Given the description of an element on the screen output the (x, y) to click on. 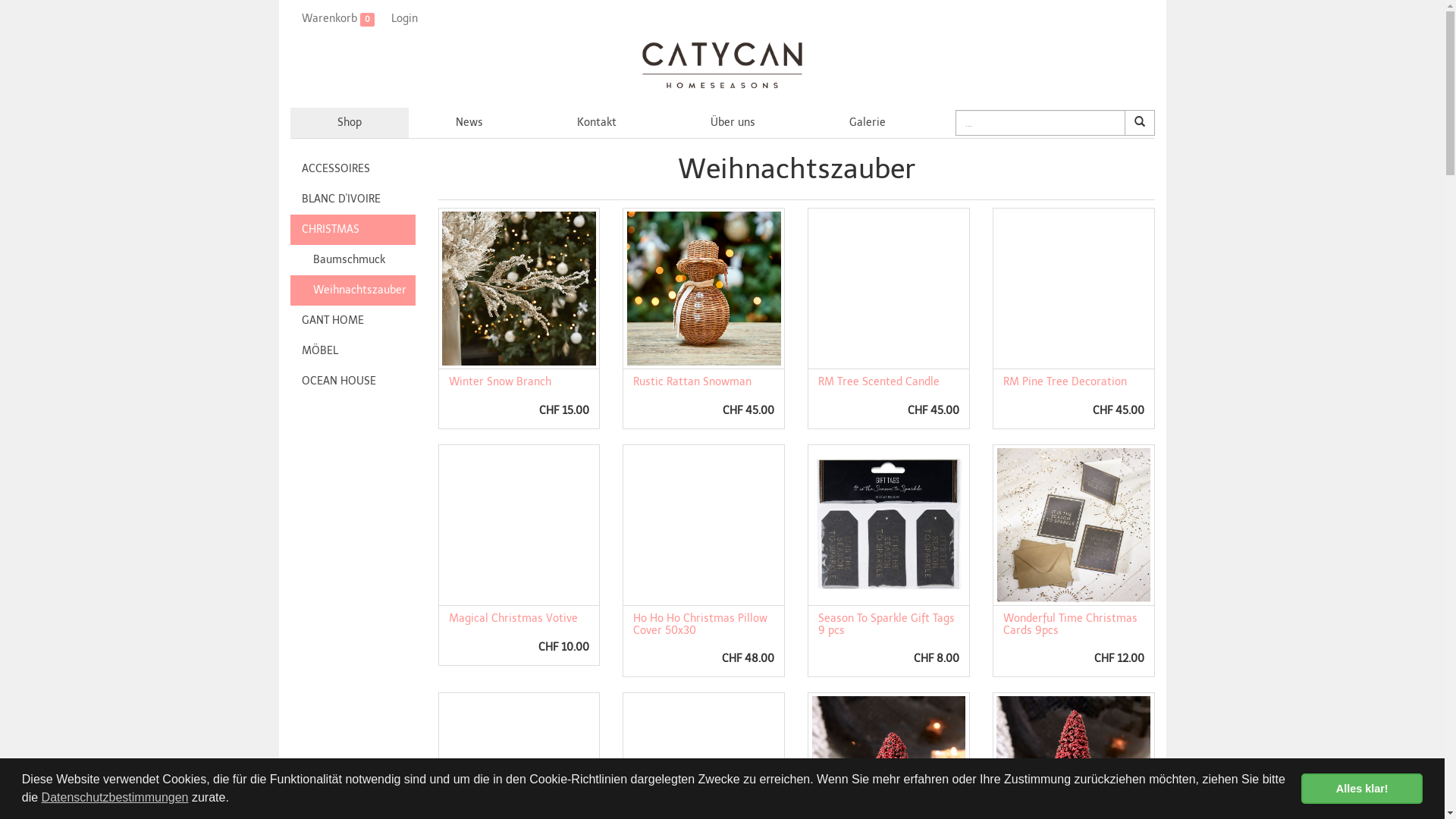
Alles klar! Element type: text (1361, 788)
Season To Sparkle Gift Tags 9 pcs Element type: text (886, 623)
Login Element type: text (401, 18)
CHRISTMAS Element type: text (351, 229)
Datenschutzbestimmungen Element type: text (114, 797)
OCEAN HOUSE Element type: text (351, 381)
BLANC D'IVOIRE Element type: text (351, 199)
RM Tree Scented Candle Element type: text (878, 381)
Shop Element type: text (348, 122)
Wonderful Time Christmas Cards 9pcs Element type: text (1070, 623)
Weihnachtszauber Element type: text (351, 290)
GANT HOME Element type: text (351, 320)
ACCESSOIRES Element type: text (351, 168)
News Element type: text (469, 122)
Warenkorb 0 Element type: text (334, 18)
Winter Snow Branch Element type: text (499, 381)
Baumschmuck Element type: text (351, 259)
Galerie Element type: text (867, 122)
Magical Christmas Votive Element type: text (512, 617)
Ho Ho Ho Christmas Pillow Cover 50x30 Element type: text (700, 623)
Rustic Rattan Snowman Element type: text (692, 381)
RM Pine Tree Decoration Element type: text (1064, 381)
Kontakt Element type: text (596, 122)
